Given the description of an element on the screen output the (x, y) to click on. 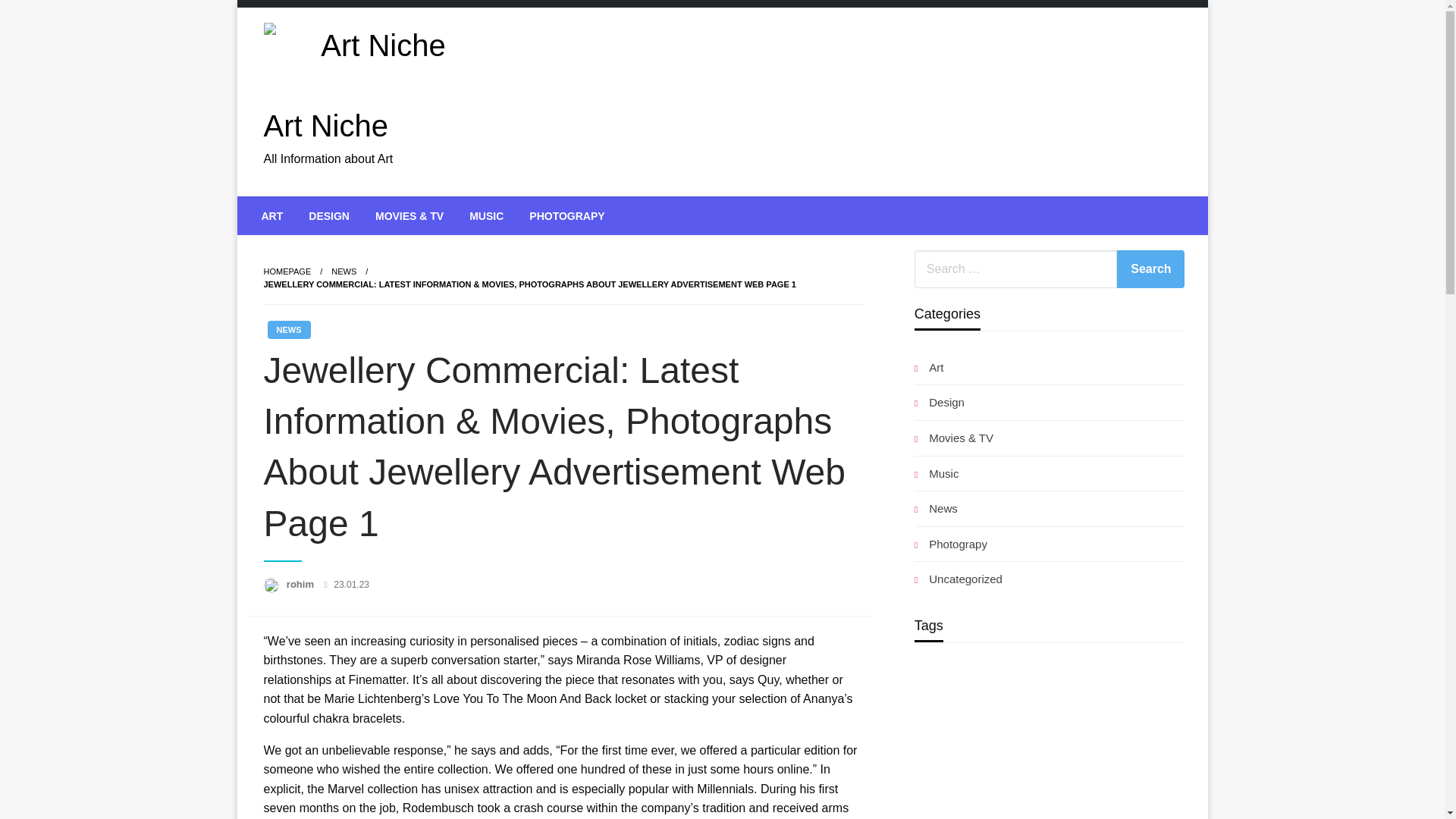
HOMEPAGE (287, 271)
Search (1150, 269)
Art Niche (325, 125)
23.01.23 (351, 584)
Search (1150, 269)
News (343, 271)
rohim (301, 583)
rohim (301, 583)
NEWS (288, 330)
Homepage (287, 271)
NEWS (343, 271)
ART (272, 216)
MUSIC (486, 216)
DESIGN (328, 216)
PHOTOGRAPY (566, 216)
